Given the description of an element on the screen output the (x, y) to click on. 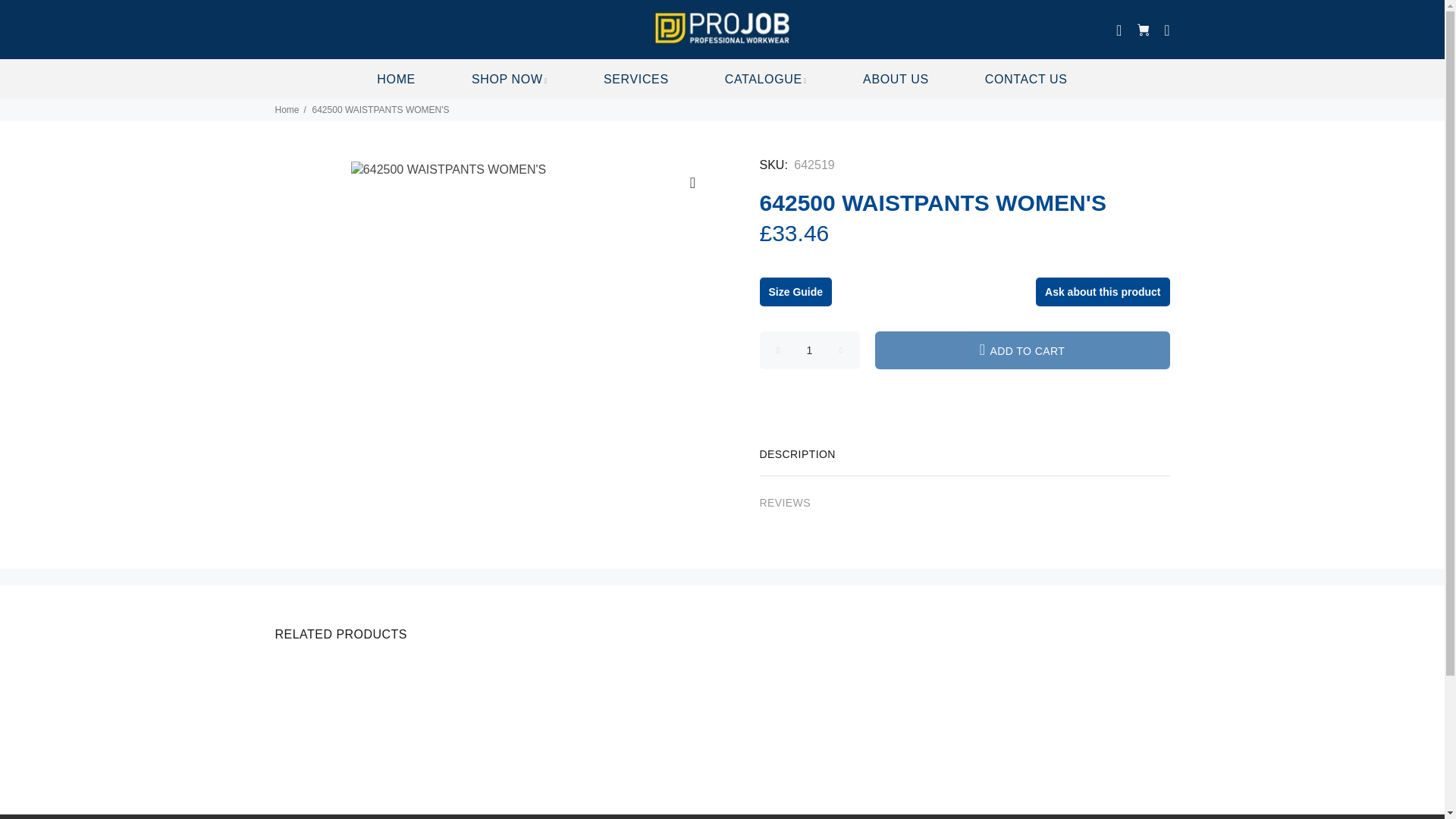
View 642553 SERVICE PANTS STRETCH WOMEN'S (835, 684)
View 643425 SHELL JACKET (1028, 676)
1 (810, 350)
View 642529 SHORTS WOMEN'S (813, 748)
View 643412 FUNCTIONAL JACKET WOMEN'S (380, 757)
SHOP NOW (509, 78)
HOME (396, 78)
View 642521  Stretch trousers - Women's (376, 676)
